Given the description of an element on the screen output the (x, y) to click on. 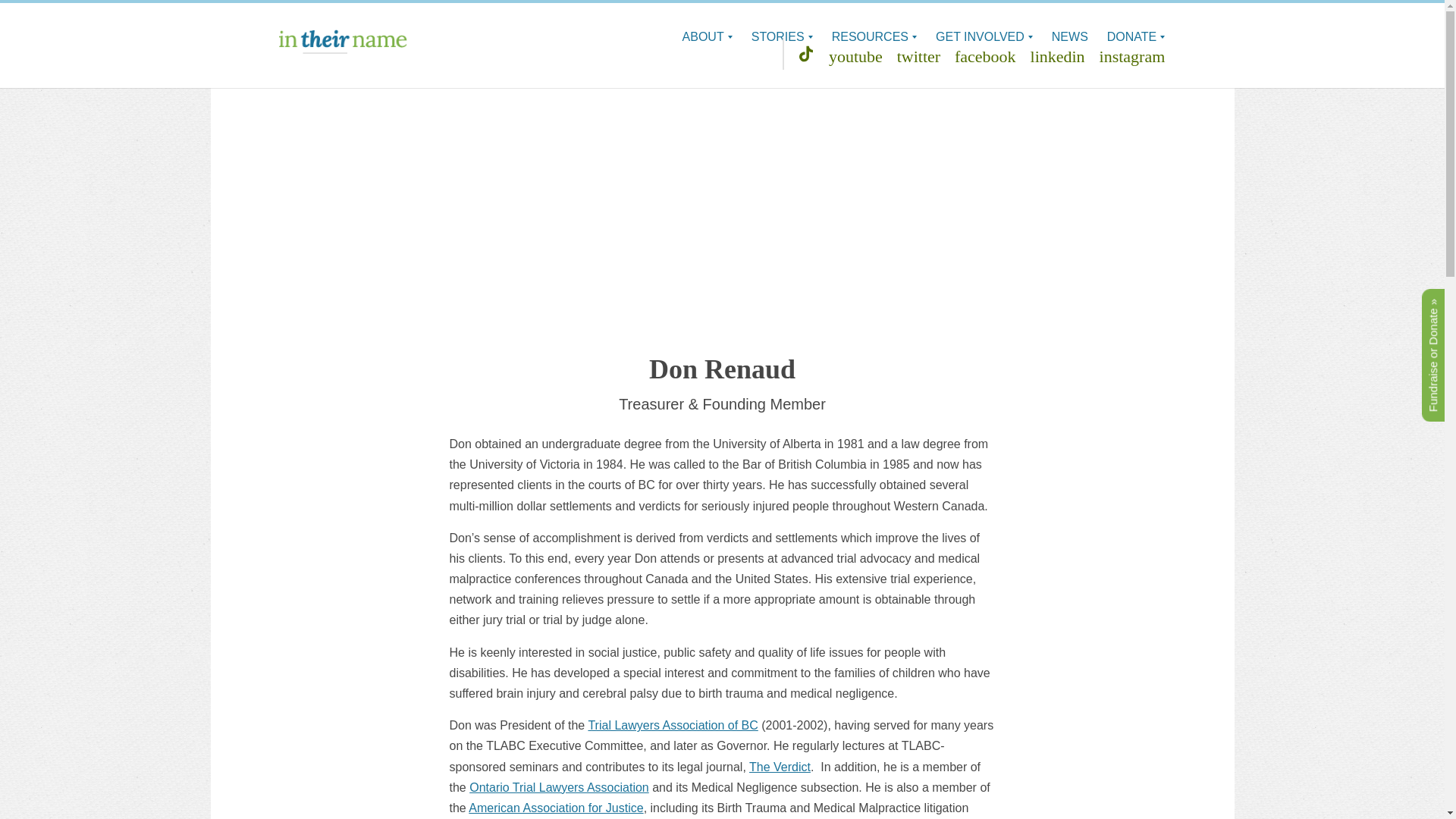
STORIES (781, 37)
RESOURCES (874, 37)
tiktok (805, 53)
ABOUT (707, 37)
In Their Name (343, 41)
GET INVOLVED (984, 37)
Don Renaud (722, 231)
